Given the description of an element on the screen output the (x, y) to click on. 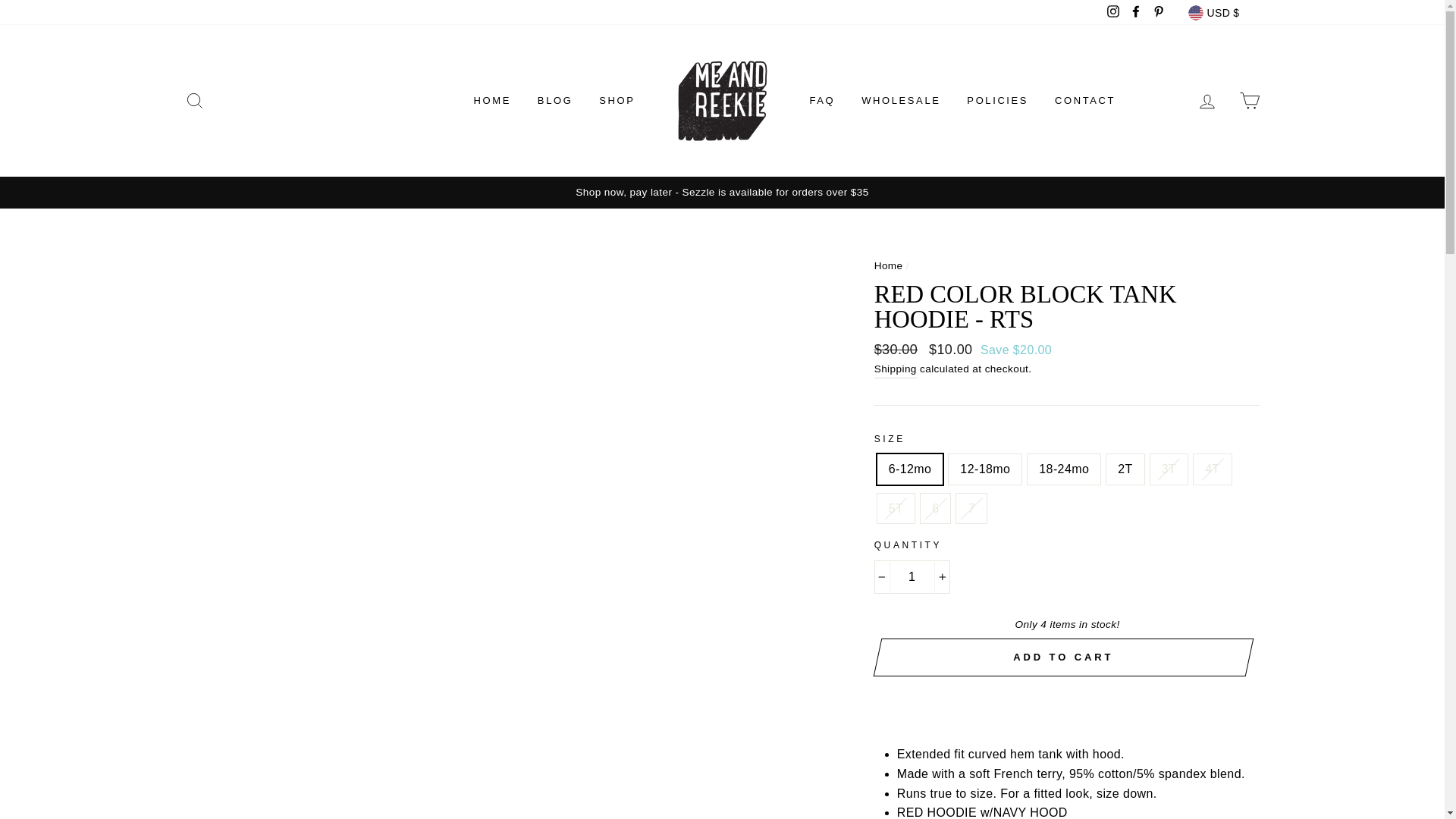
Back to the frontpage (888, 265)
1 (912, 576)
